Given the description of an element on the screen output the (x, y) to click on. 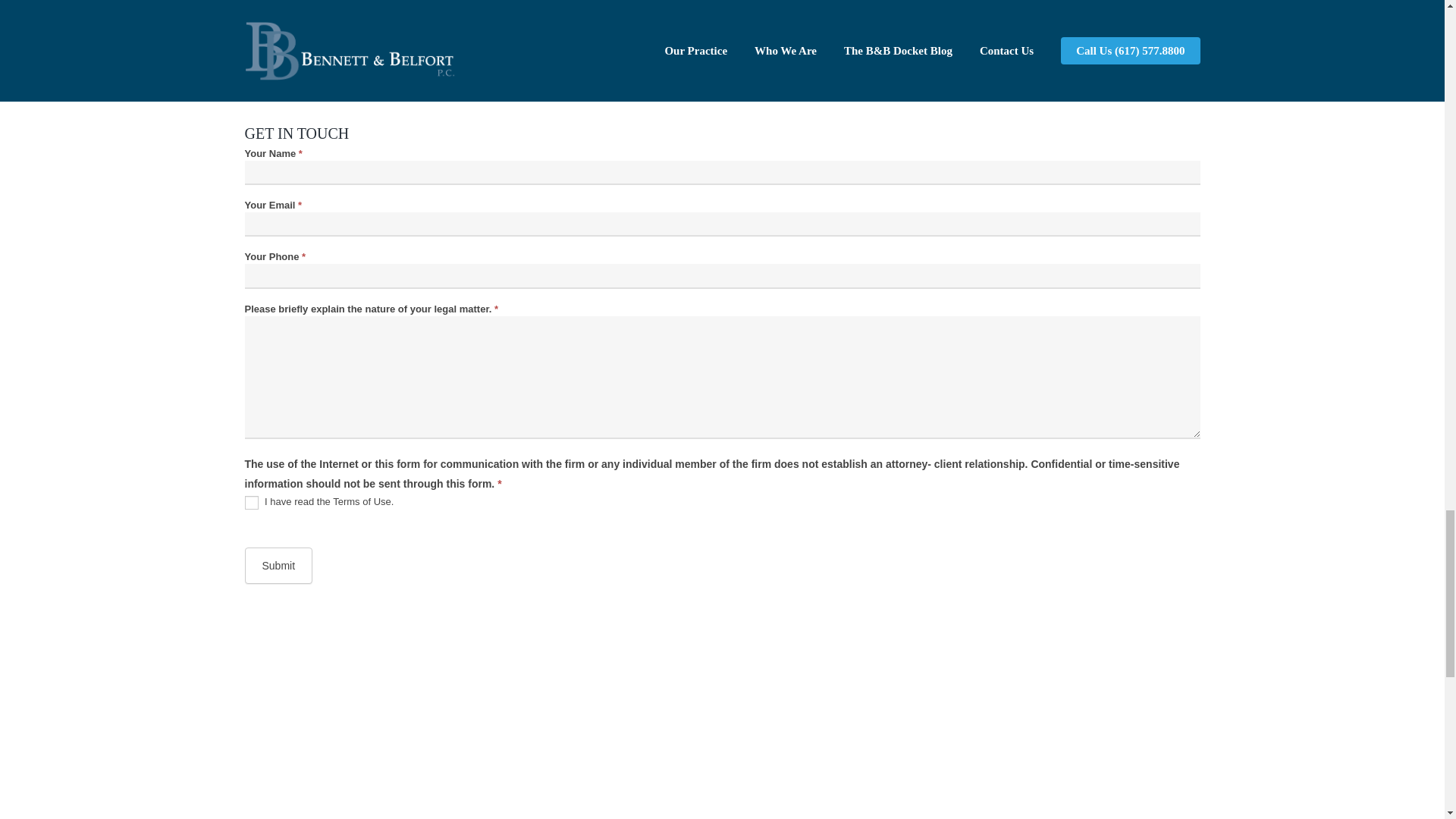
I have read the Terms of Use. (250, 502)
Submit (278, 565)
attorney in Cambridge (1004, 38)
